Given the description of an element on the screen output the (x, y) to click on. 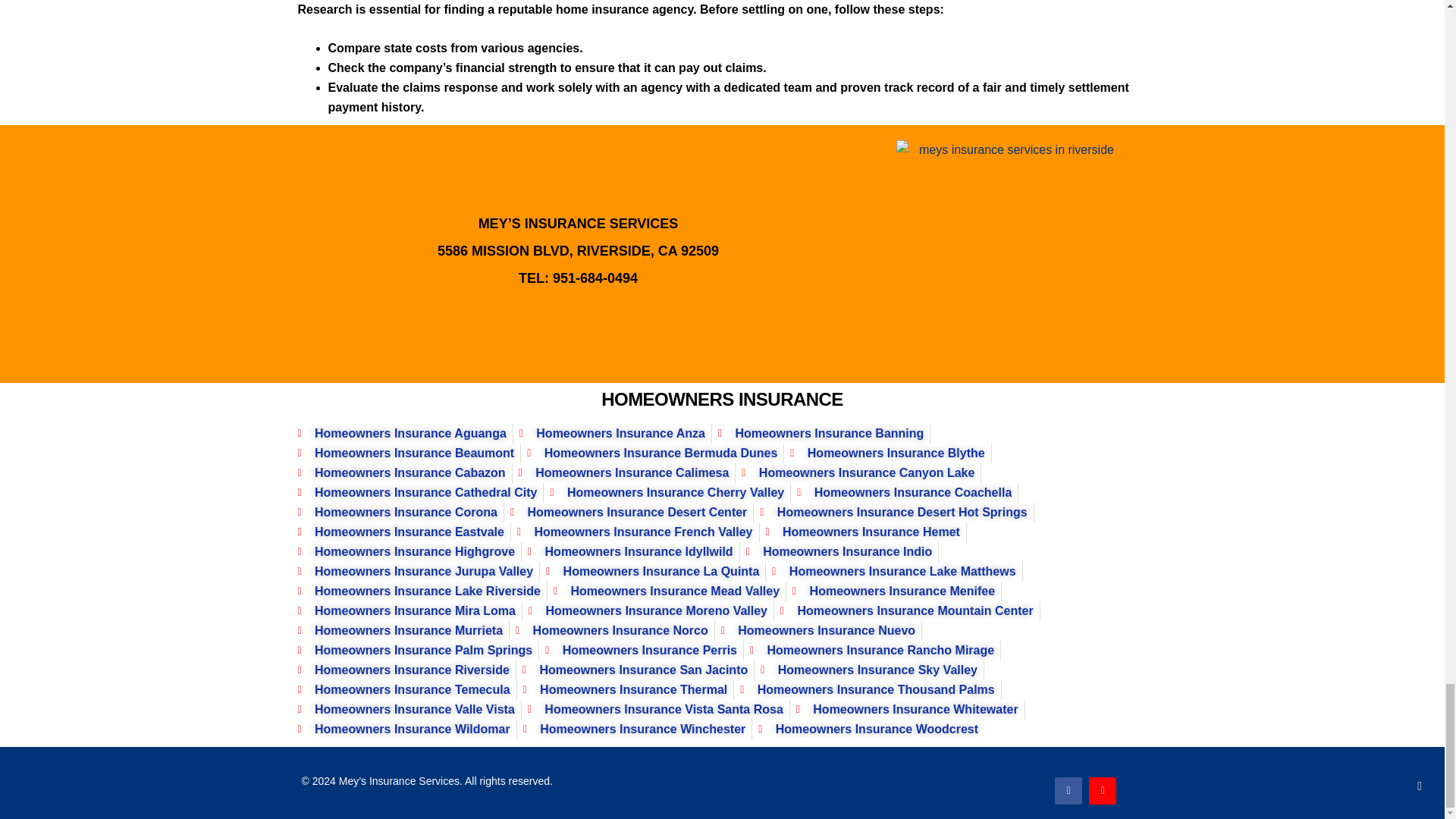
Homeowners Insurance Canyon Lake (857, 473)
Homeowners Insurance Cherry Valley (667, 492)
Homeowners Insurance Cathedral City (417, 492)
Homeowners Insurance Beaumont (405, 453)
Homeowners Insurance Cabazon (401, 473)
HOMEOWNERS INSURANCE (722, 399)
Homeowners Insurance Coachella (903, 492)
Homeowners Insurance Banning (820, 433)
Homeowners Insurance Anza (611, 433)
Homeowners Insurance Eastvale (400, 532)
